Given the description of an element on the screen output the (x, y) to click on. 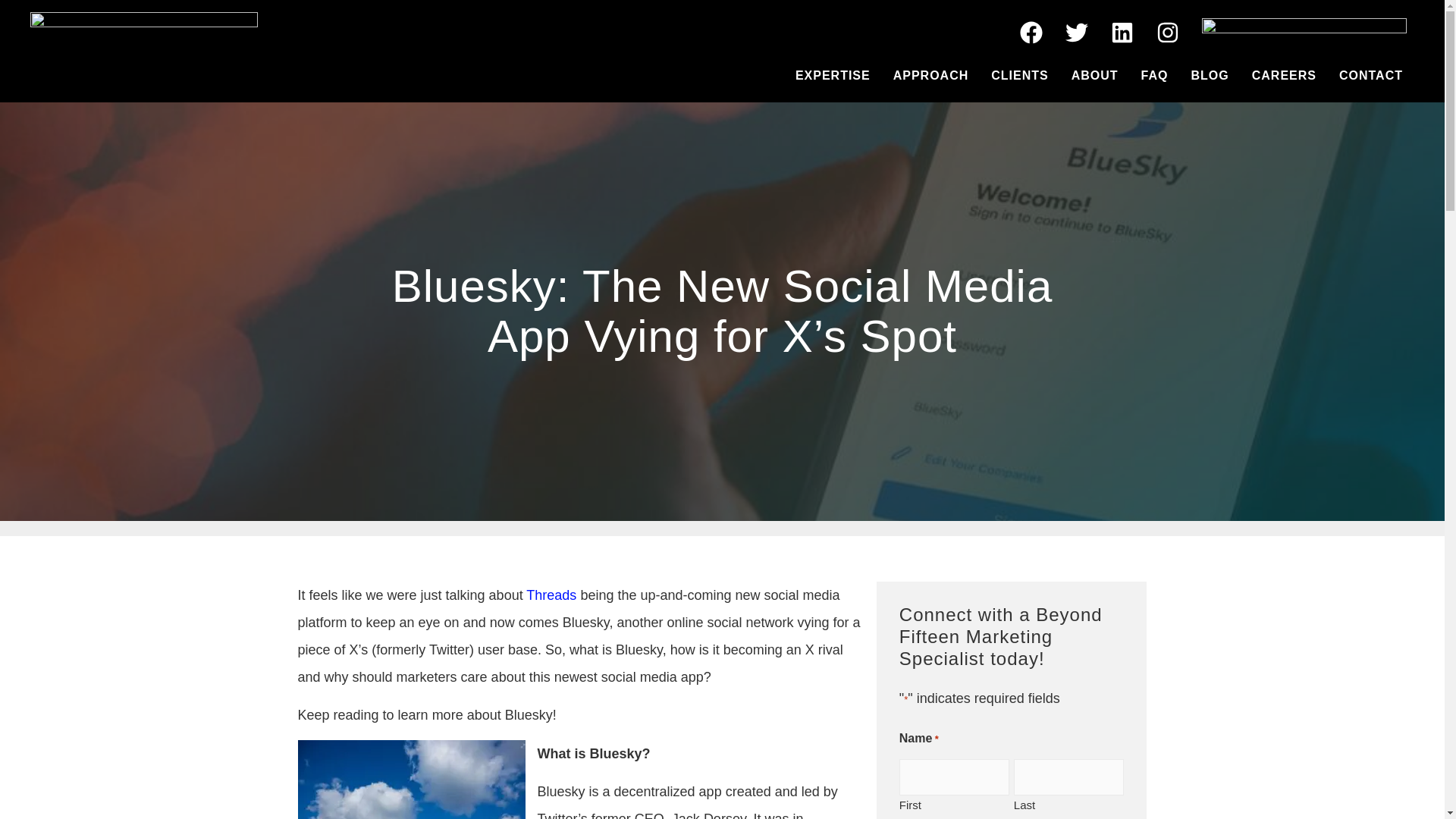
FAQ (1154, 75)
APPROACH (930, 75)
CONTACT (1370, 75)
BLOG (1209, 75)
ABOUT (1094, 75)
CAREERS (1283, 75)
CLIENTS (1019, 75)
EXPERTISE (833, 75)
